Given the description of an element on the screen output the (x, y) to click on. 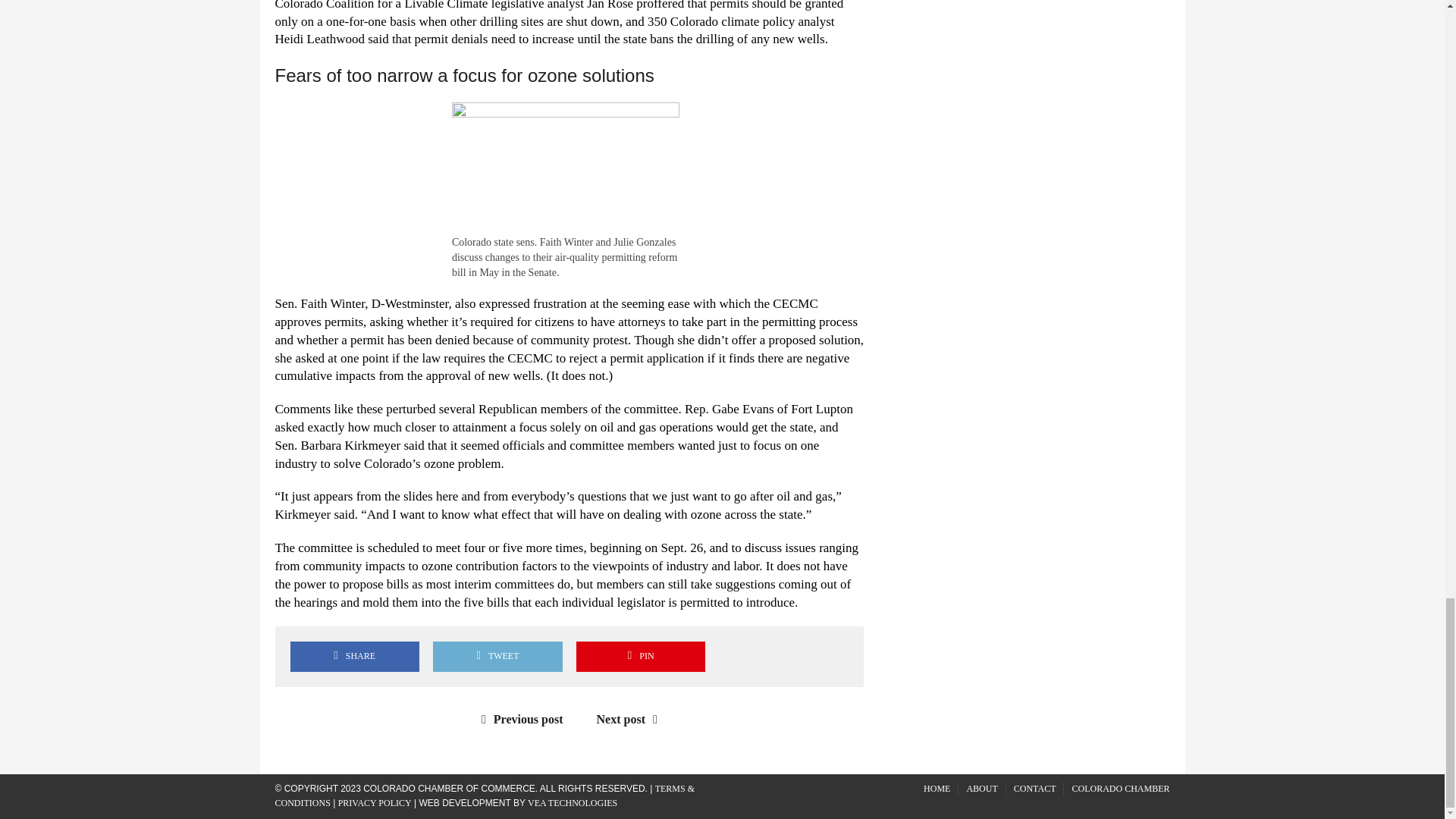
Tweet This Post (497, 655)
Share on Facebook (354, 655)
Pin This Post (640, 655)
